Given the description of an element on the screen output the (x, y) to click on. 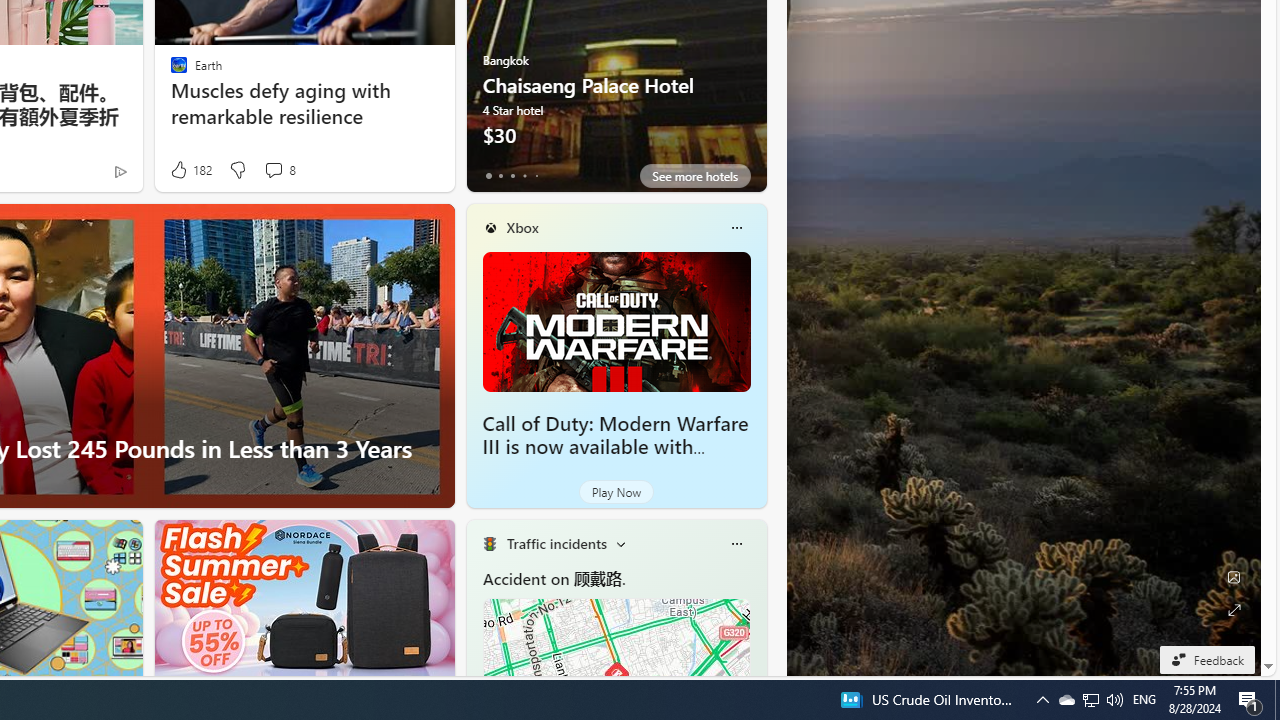
Xbox (521, 227)
tab-0 (488, 175)
Traffic incidents (555, 543)
tab-1 (500, 175)
See more hotels (694, 175)
Ad Choice (119, 171)
More options (736, 543)
